Given the description of an element on the screen output the (x, y) to click on. 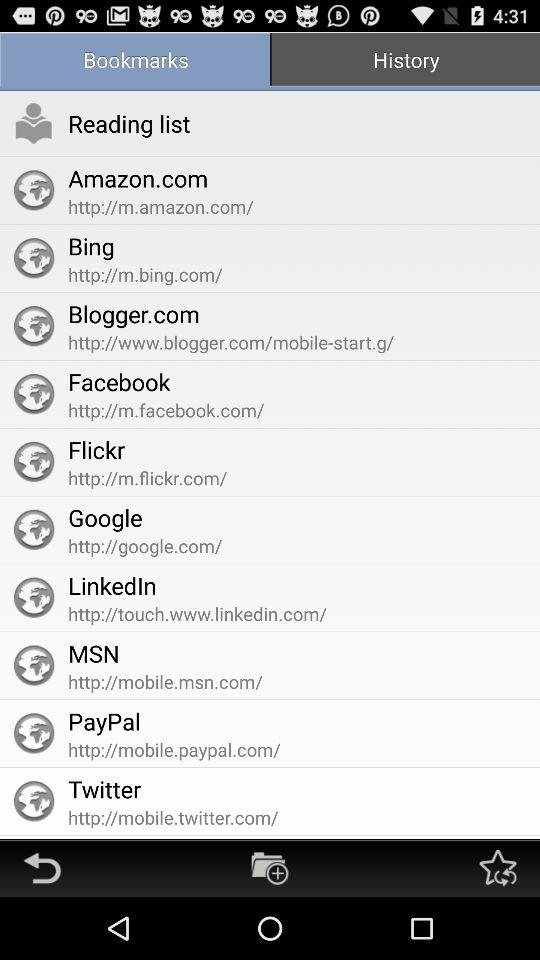
open the app to the left of reading list icon (34, 123)
